Given the description of an element on the screen output the (x, y) to click on. 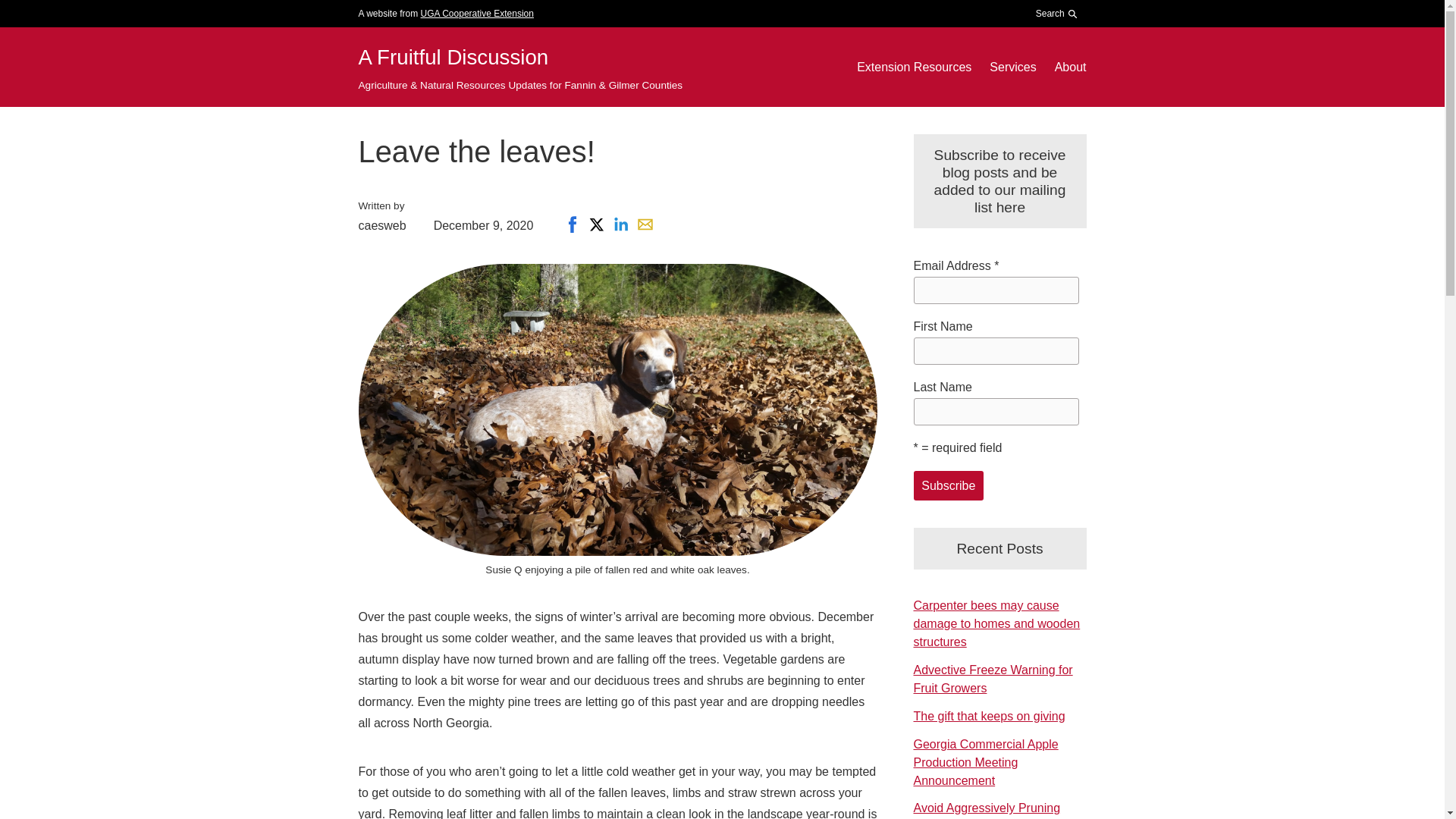
UGA Cooperative Extension (477, 13)
About (1070, 66)
Search (1053, 51)
Share on Facebook, opens in new window (572, 224)
Advective Freeze Warning for Fruit Growers (991, 678)
Extension Resources (914, 66)
Georgia Commercial Apple Production Meeting Announcement (985, 762)
A Fruitful Discussion (453, 56)
Share on LinkedIn (620, 224)
